Given the description of an element on the screen output the (x, y) to click on. 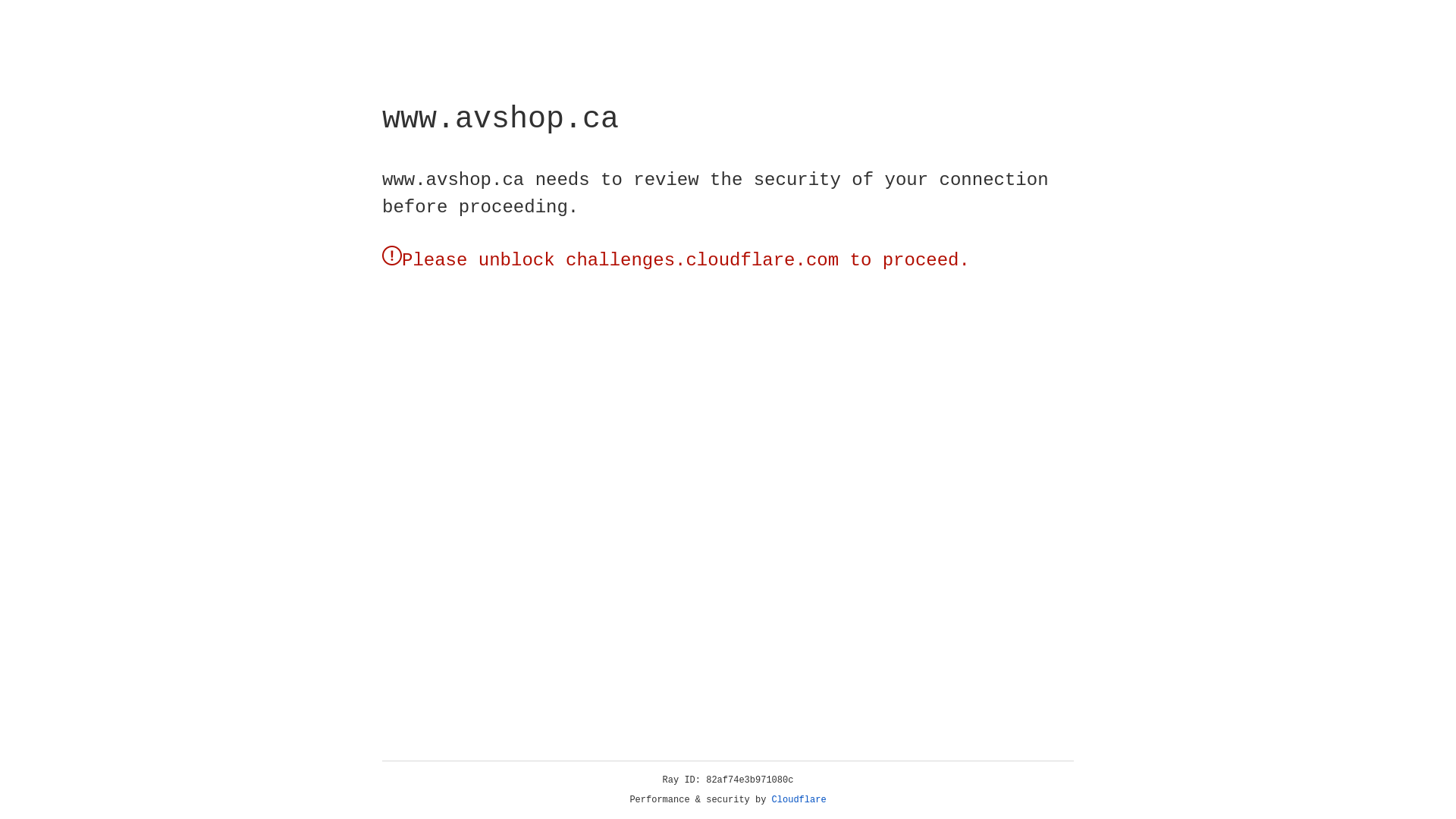
Cloudflare Element type: text (798, 799)
